Given the description of an element on the screen output the (x, y) to click on. 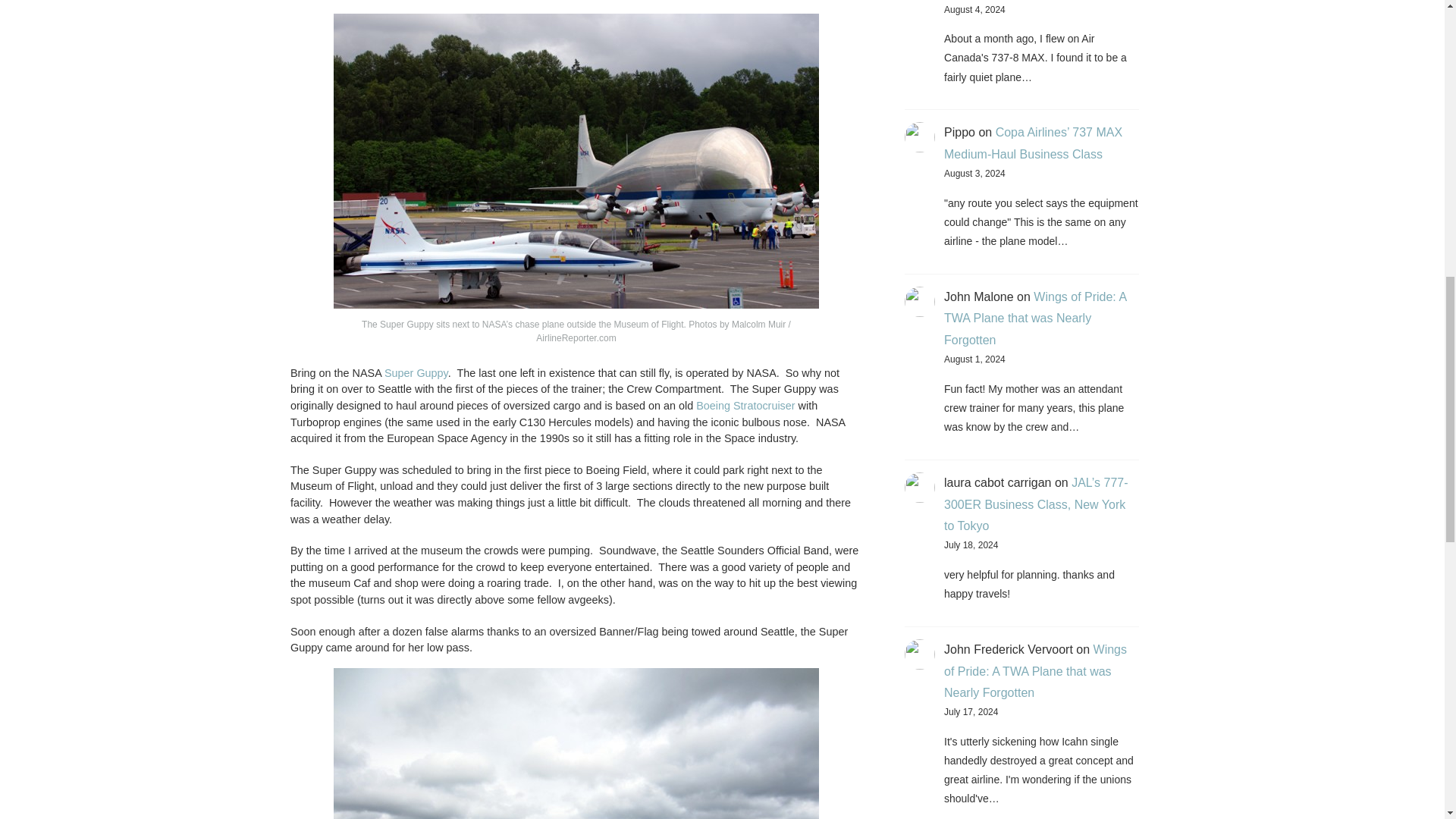
Boeing Stratocruiser (744, 405)
Super Guppy (416, 372)
guppy17 (575, 743)
